Given the description of an element on the screen output the (x, y) to click on. 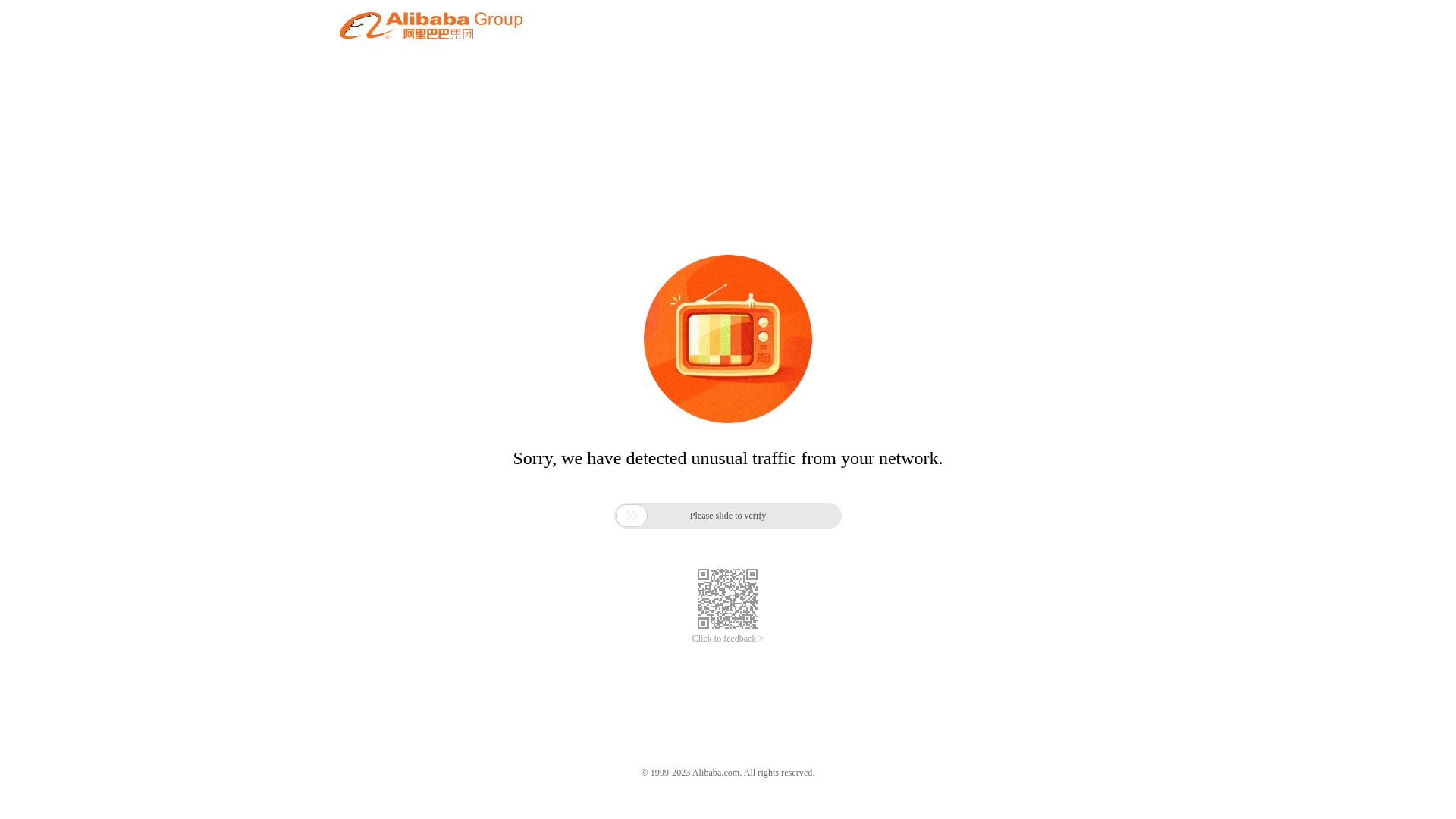
Click to feedback > Element type: text (727, 638)
